Given the description of an element on the screen output the (x, y) to click on. 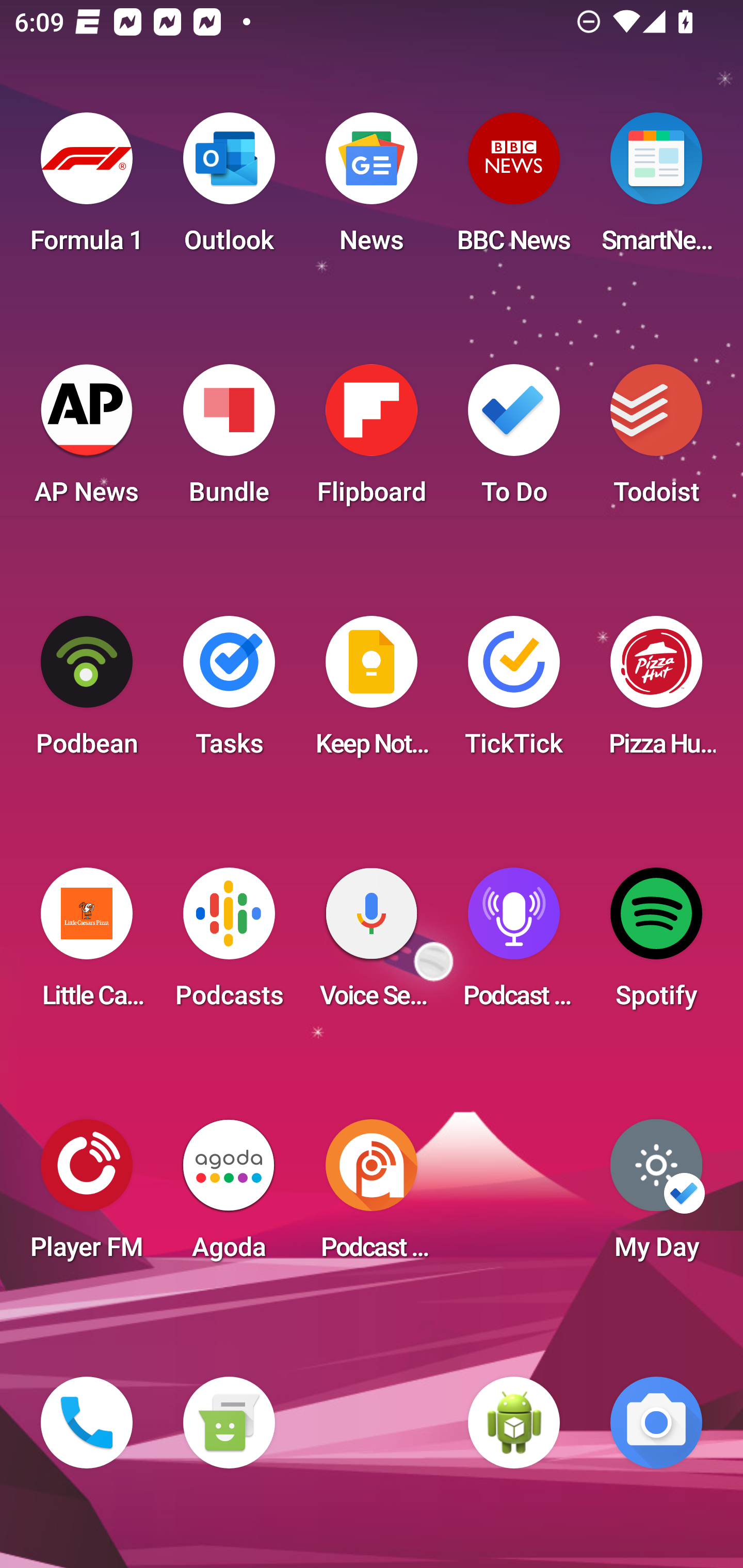
Formula 1 (86, 188)
Outlook (228, 188)
News (371, 188)
BBC News (513, 188)
SmartNews (656, 188)
AP News (86, 440)
Bundle (228, 440)
Flipboard (371, 440)
To Do (513, 440)
Todoist (656, 440)
Podbean (86, 692)
Tasks (228, 692)
Keep Notes (371, 692)
TickTick (513, 692)
Pizza Hut HK & Macau (656, 692)
Little Caesars Pizza (86, 943)
Podcasts (228, 943)
Voice Search (371, 943)
Podcast Player (513, 943)
Spotify (656, 943)
Player FM (86, 1195)
Agoda (228, 1195)
Podcast Addict (371, 1195)
My Day (656, 1195)
Phone (86, 1422)
Messaging (228, 1422)
WebView Browser Tester (513, 1422)
Camera (656, 1422)
